Given the description of an element on the screen output the (x, y) to click on. 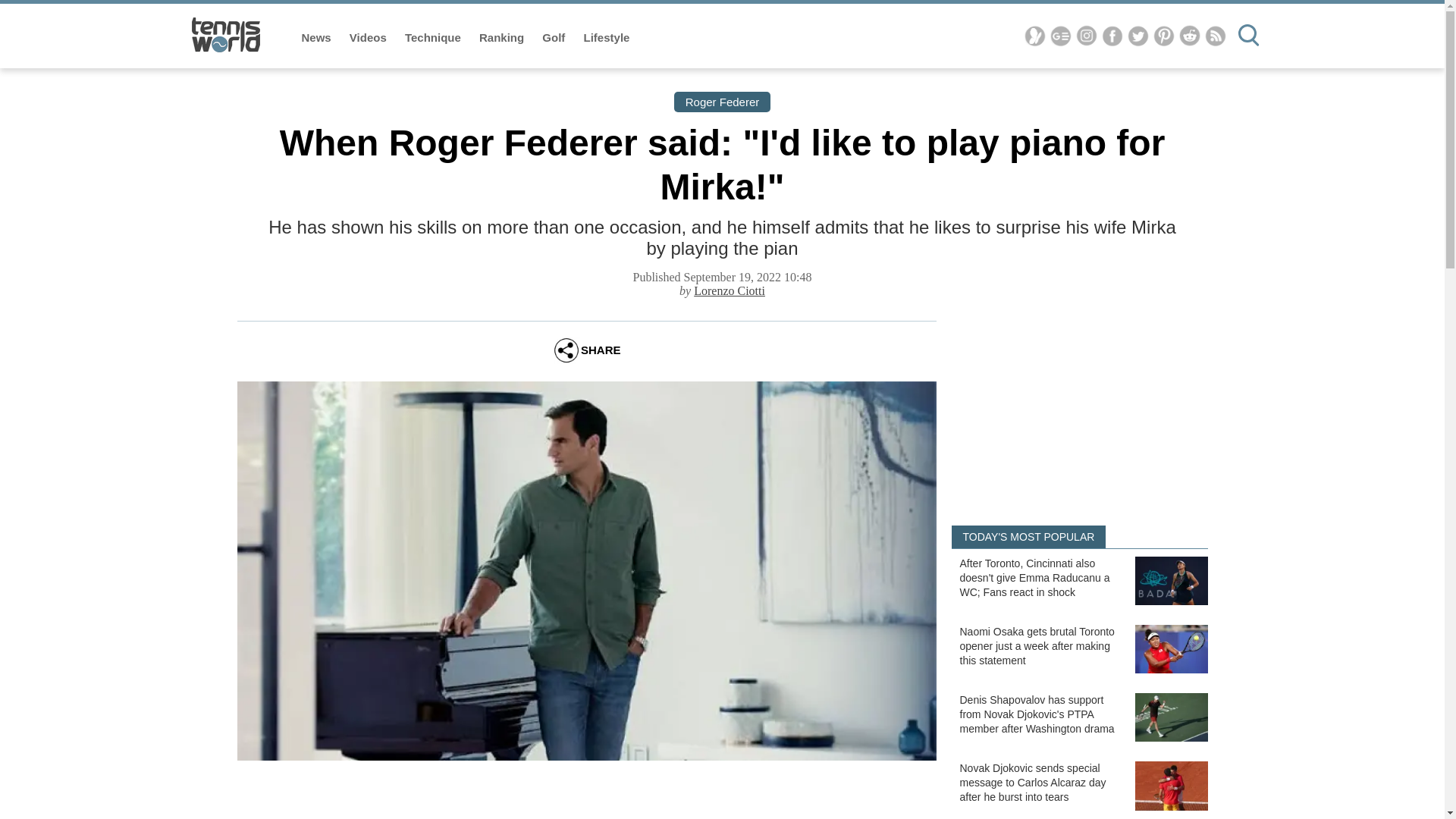
Ranking (503, 37)
Golf (554, 37)
News (317, 37)
Lifestyle (606, 37)
Technique (434, 37)
Videos (369, 37)
